Given the description of an element on the screen output the (x, y) to click on. 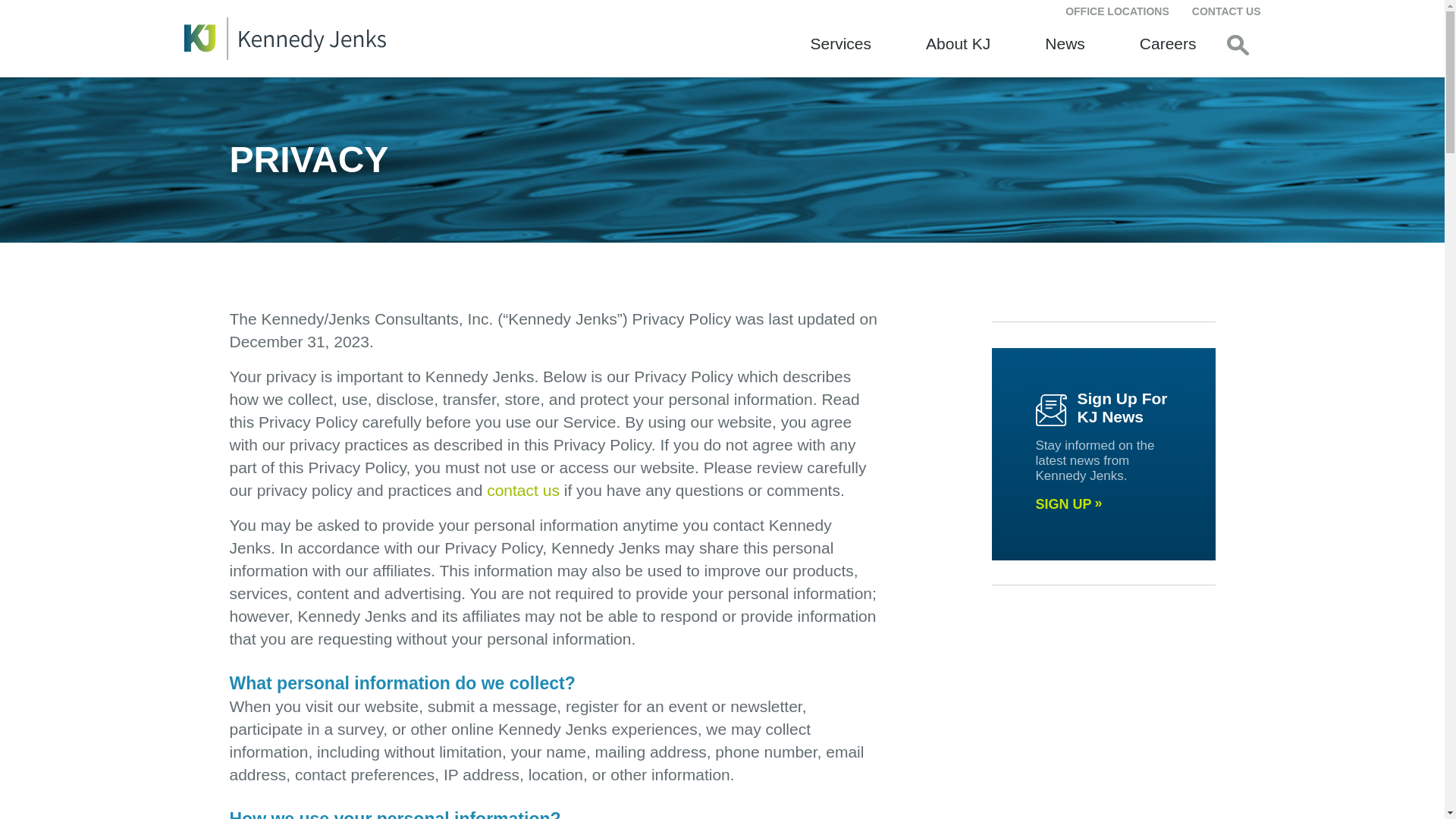
Careers (1168, 43)
Services (841, 43)
About KJ (958, 43)
OFFICE LOCATIONS (1117, 11)
CONTACT US (1226, 11)
News (1064, 43)
contact us (522, 489)
